Given the description of an element on the screen output the (x, y) to click on. 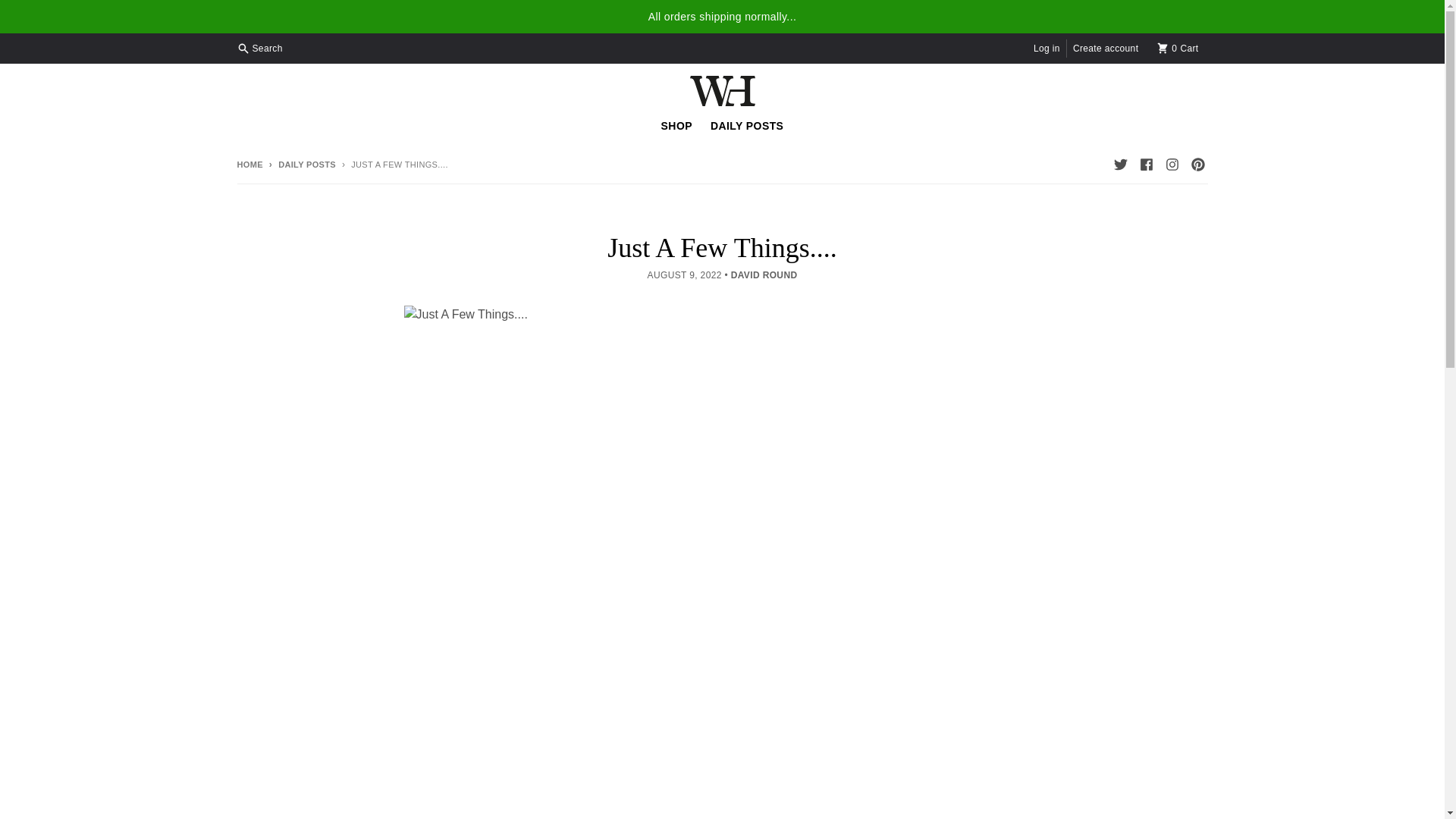
DAILY POSTS (746, 125)
Create account (1104, 48)
HOME (248, 163)
DAILY POSTS (1178, 48)
SHOP (299, 163)
Facebook - William Hannah Limited (676, 125)
Search (1145, 164)
Instagram - William Hannah Limited (260, 48)
Twitter - William Hannah Limited (1170, 164)
Back to the homepage (1119, 164)
Log in (248, 163)
Pinterest - William Hannah Limited (1046, 48)
